Given the description of an element on the screen output the (x, y) to click on. 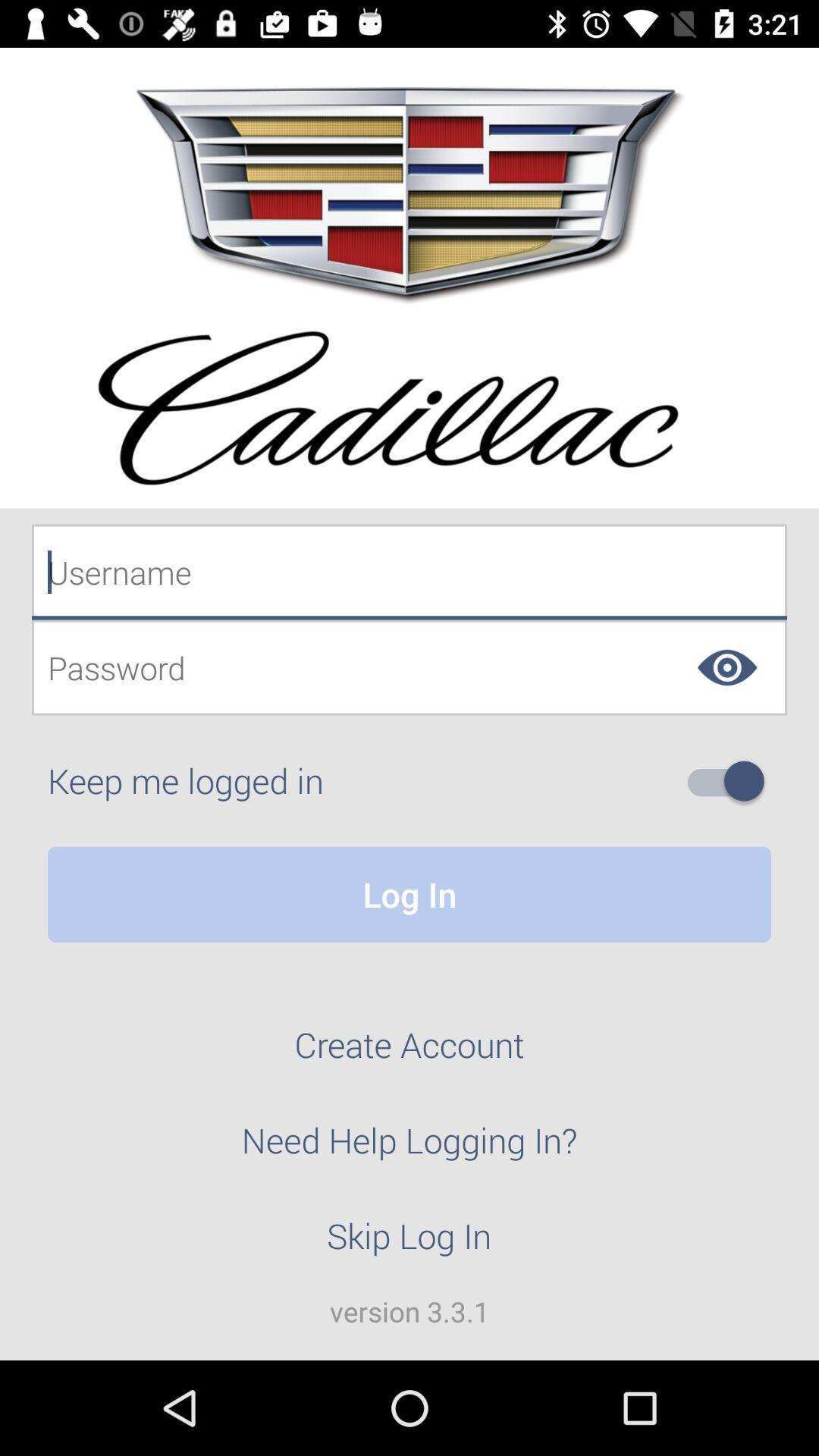
press the icon above need help logging icon (409, 1053)
